Given the description of an element on the screen output the (x, y) to click on. 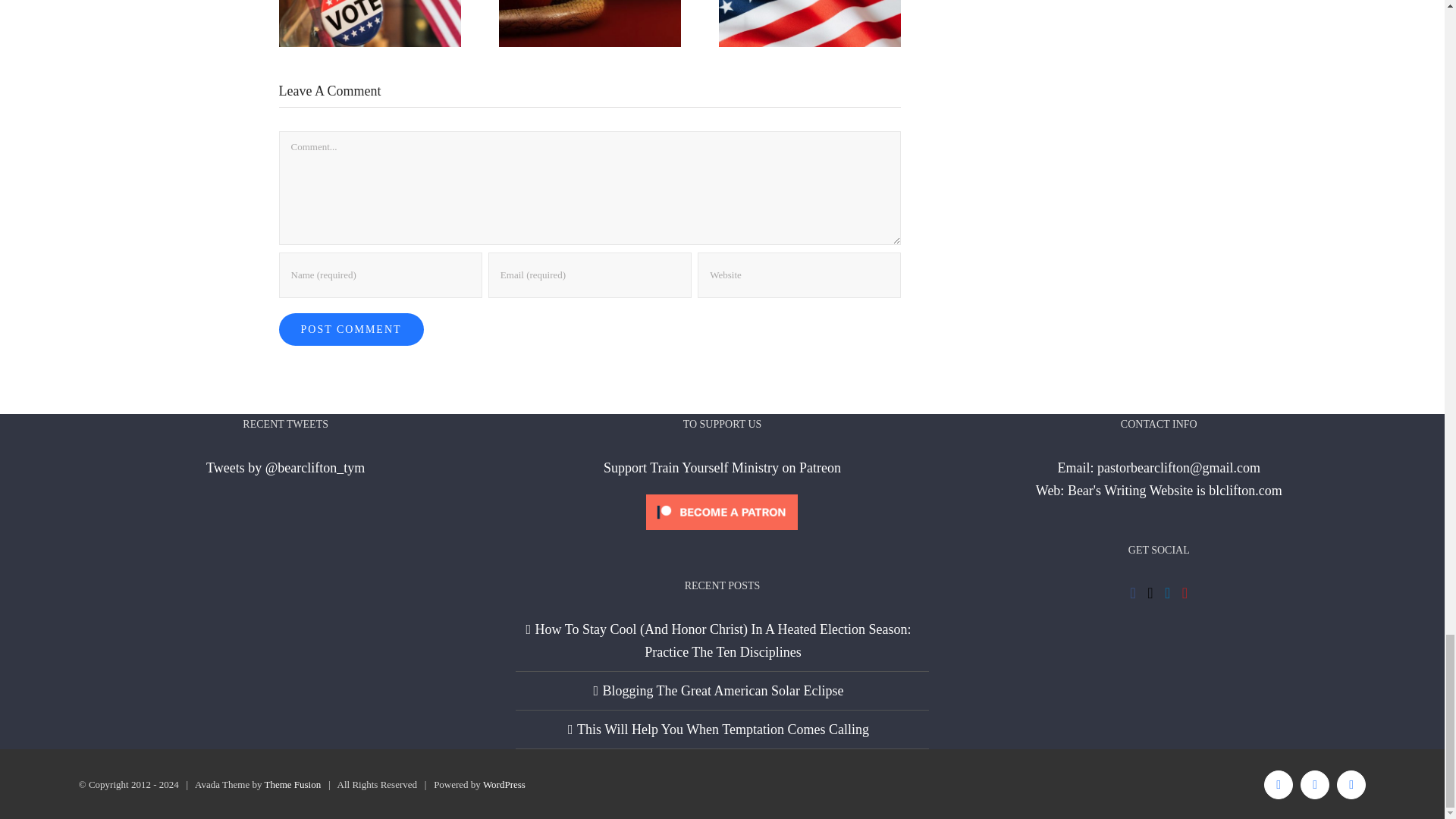
Post Comment (351, 328)
Post Comment (351, 328)
